Given the description of an element on the screen output the (x, y) to click on. 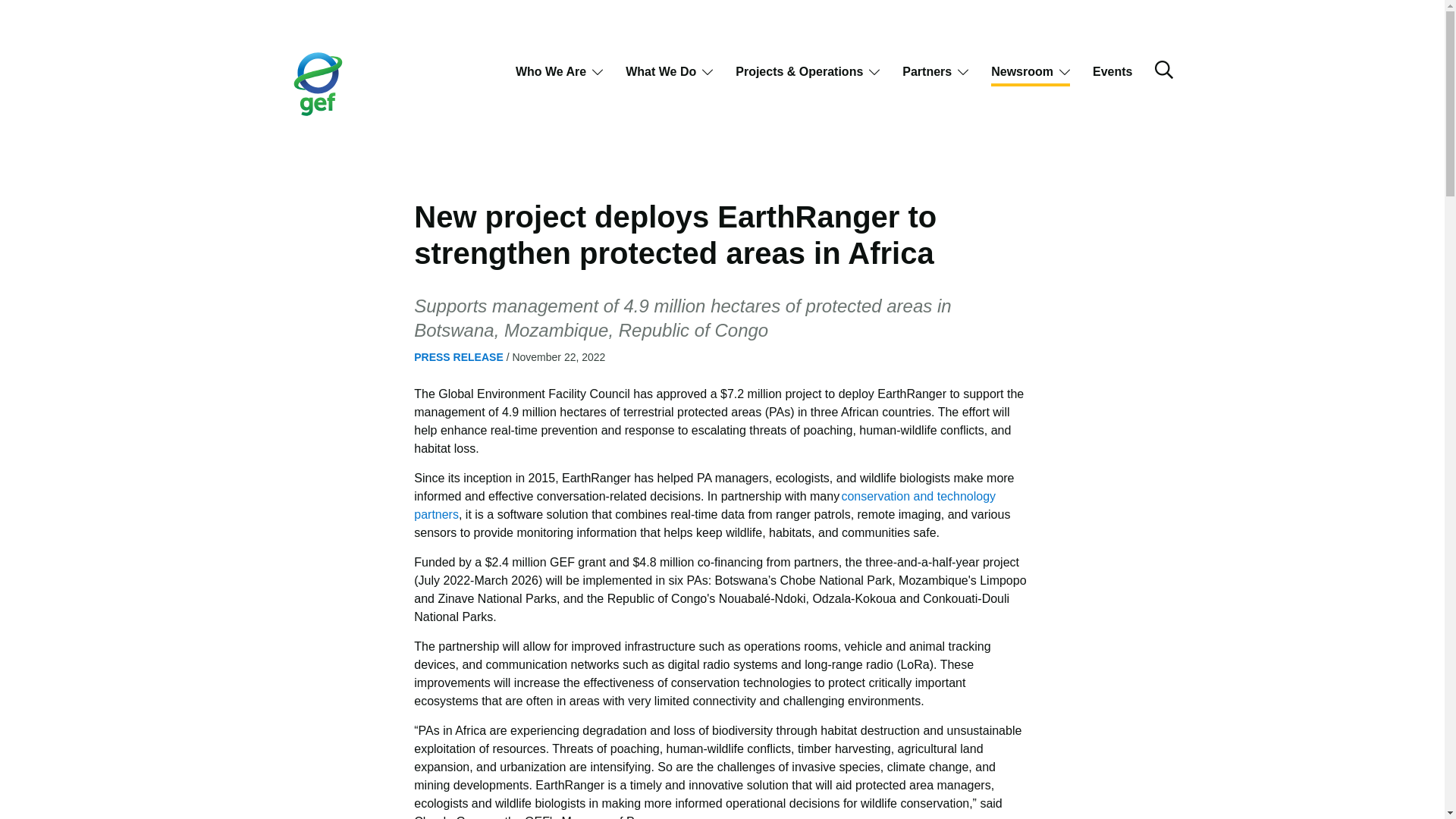
What We Do (669, 73)
Who We Are (558, 73)
